Given the description of an element on the screen output the (x, y) to click on. 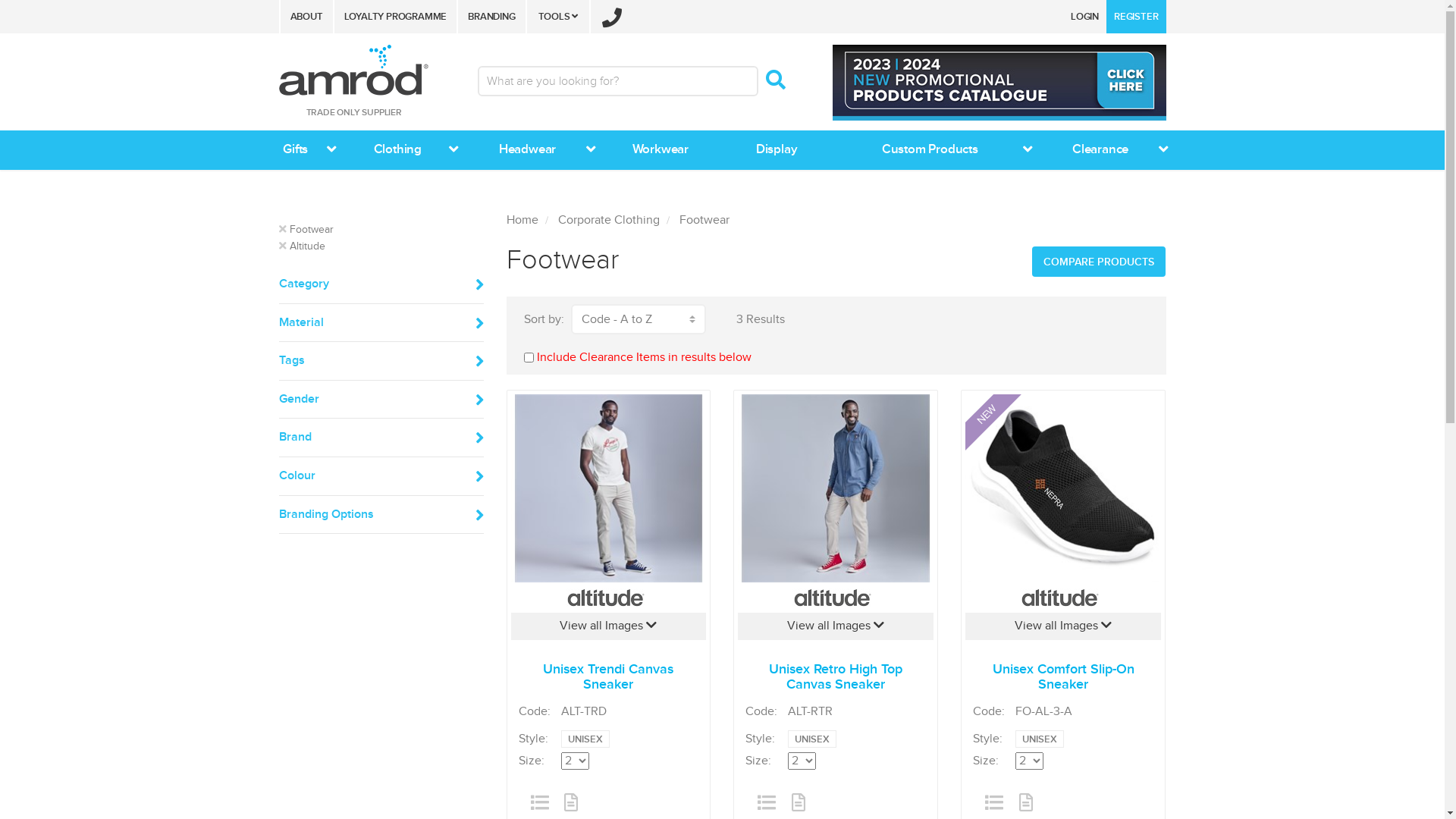
Unisex Comfort Slip-On Sneaker Element type: text (1063, 680)
ABOUT Element type: text (306, 16)
Unisex Retro High Top Canvas Sneaker Element type: text (835, 680)
Workwear Element type: text (654, 150)
REGISTER Element type: text (1135, 16)
Display Element type: text (773, 150)
UNISEX Element type: text (1039, 739)
TOOLS Element type: text (558, 16)
Branding Options Element type: text (381, 514)
Unisex Comfort Slip-On Sneaker Element type: hover (1063, 488)
COMPARE PRODUCTS Element type: text (1098, 261)
View all Images Element type: text (1063, 626)
Amrod Element type: hover (353, 69)
Footwear Element type: text (704, 220)
View all Images Element type: text (608, 626)
Unisex Retro High Top Canvas Sneaker Element type: hover (835, 488)
Headwear Element type: text (527, 150)
Colour Element type: text (381, 476)
UNISEX Element type: text (585, 739)
TRADE ONLY SUPPLIER Element type: text (359, 87)
Category Element type: text (381, 284)
UNISEX Element type: text (811, 739)
Tags Element type: text (381, 360)
Material Element type: text (381, 322)
on Element type: text (528, 357)
Home Element type: text (522, 220)
LOGIN Element type: text (1084, 16)
Unisex Trendi Canvas Sneaker Element type: text (608, 680)
Code - A to Z Element type: text (637, 319)
Unisex Trendi Canvas Sneaker Element type: hover (608, 488)
Corporate Clothing Element type: text (608, 220)
Clearance Element type: text (1099, 150)
View all Images Element type: text (835, 626)
LOYALTY PROGRAMME Element type: text (394, 16)
BRANDING Element type: text (491, 16)
Custom Products Element type: text (929, 150)
Gender Element type: text (381, 399)
Gifts Element type: text (295, 150)
Clothing Element type: text (397, 150)
Brand Element type: text (381, 437)
